Given the description of an element on the screen output the (x, y) to click on. 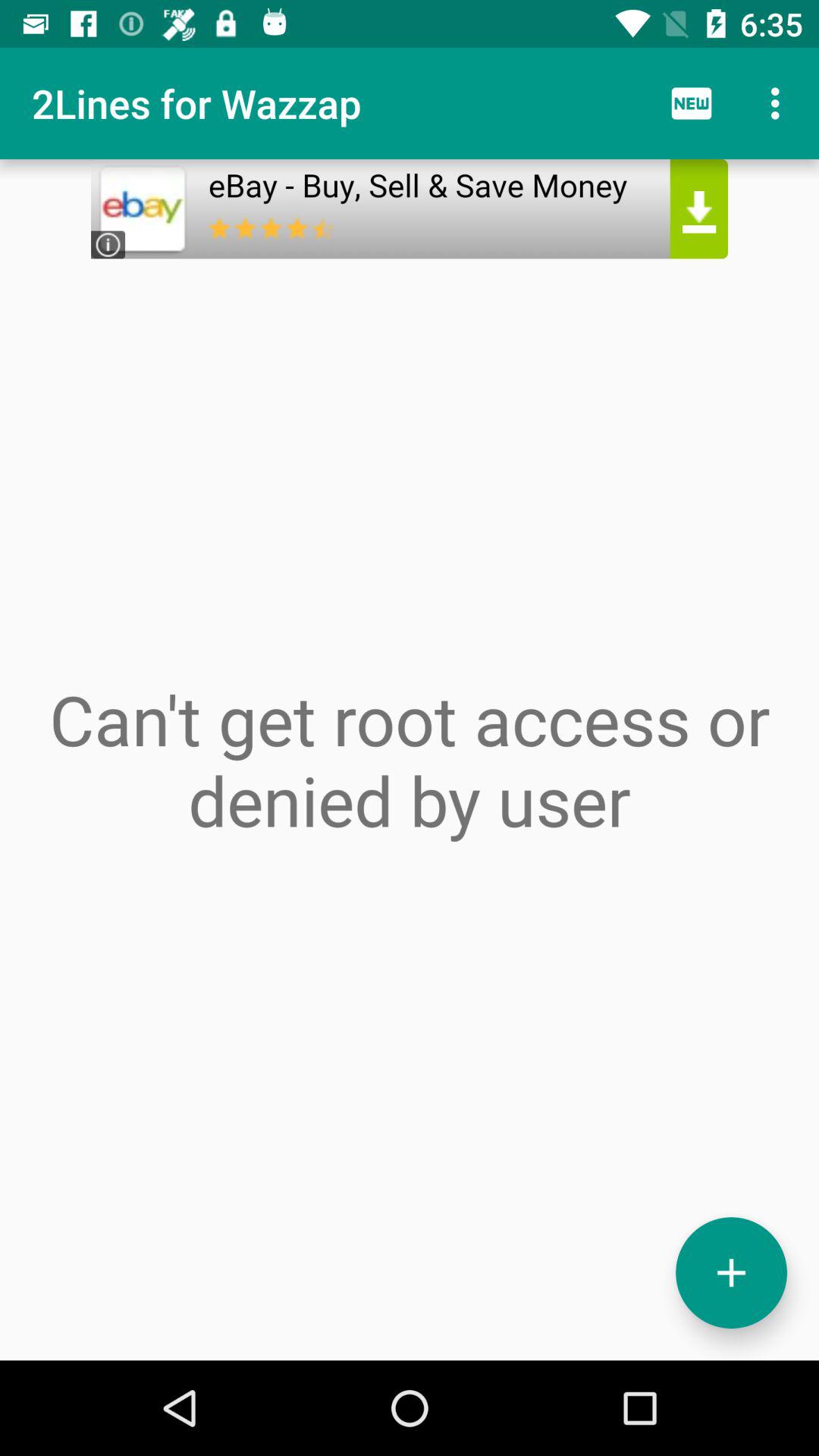
launch icon to the right of the 2lines for wazzap icon (691, 103)
